Given the description of an element on the screen output the (x, y) to click on. 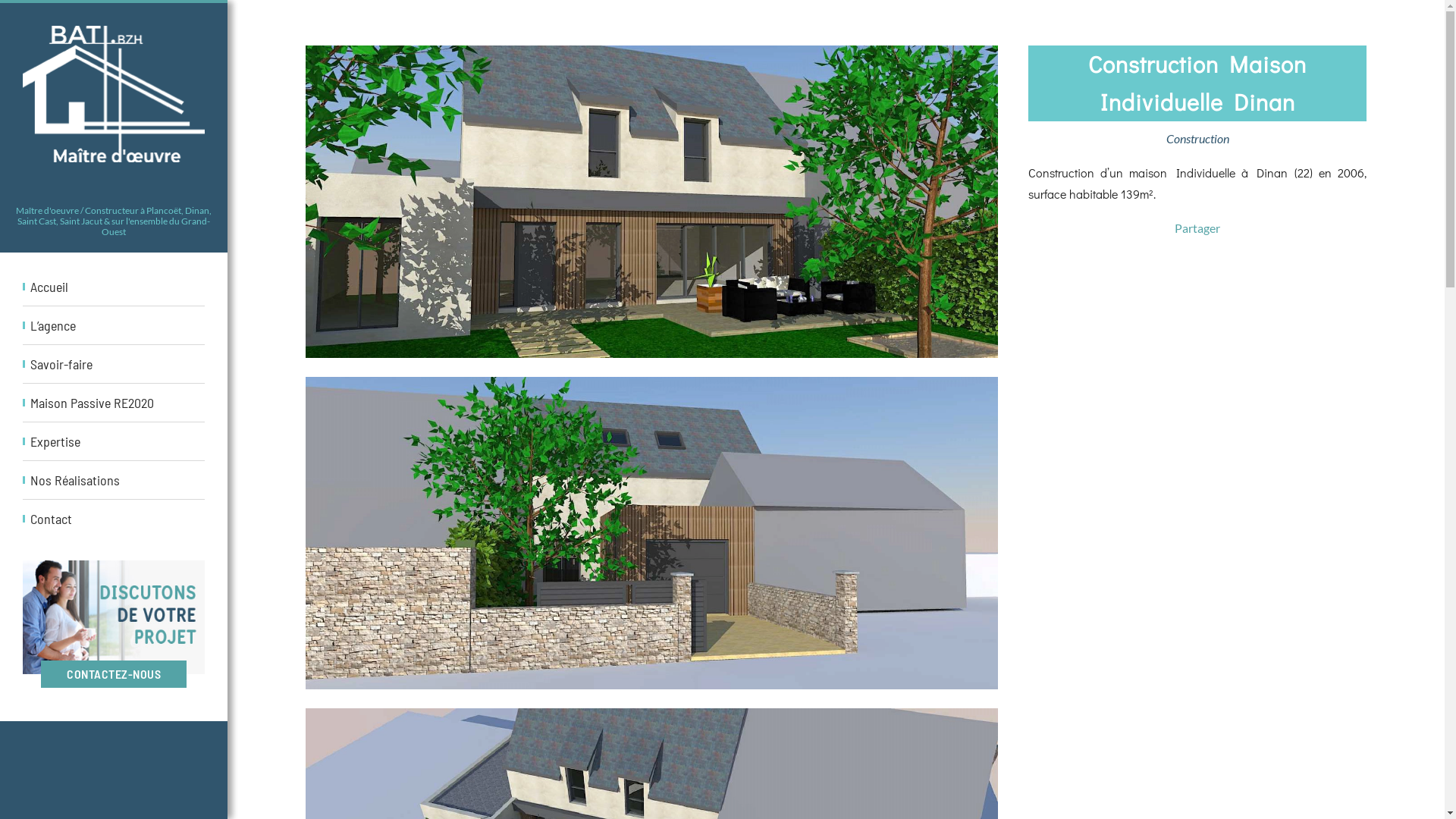
Contact Element type: text (113, 518)
Expertise Element type: text (113, 441)
Partager Element type: text (1197, 227)
Savoir-faire Element type: text (113, 364)
Maison Passive RE2020 Element type: text (113, 402)
CONTACTEZ-NOUS Element type: text (113, 617)
Accueil Element type: text (113, 286)
